Given the description of an element on the screen output the (x, y) to click on. 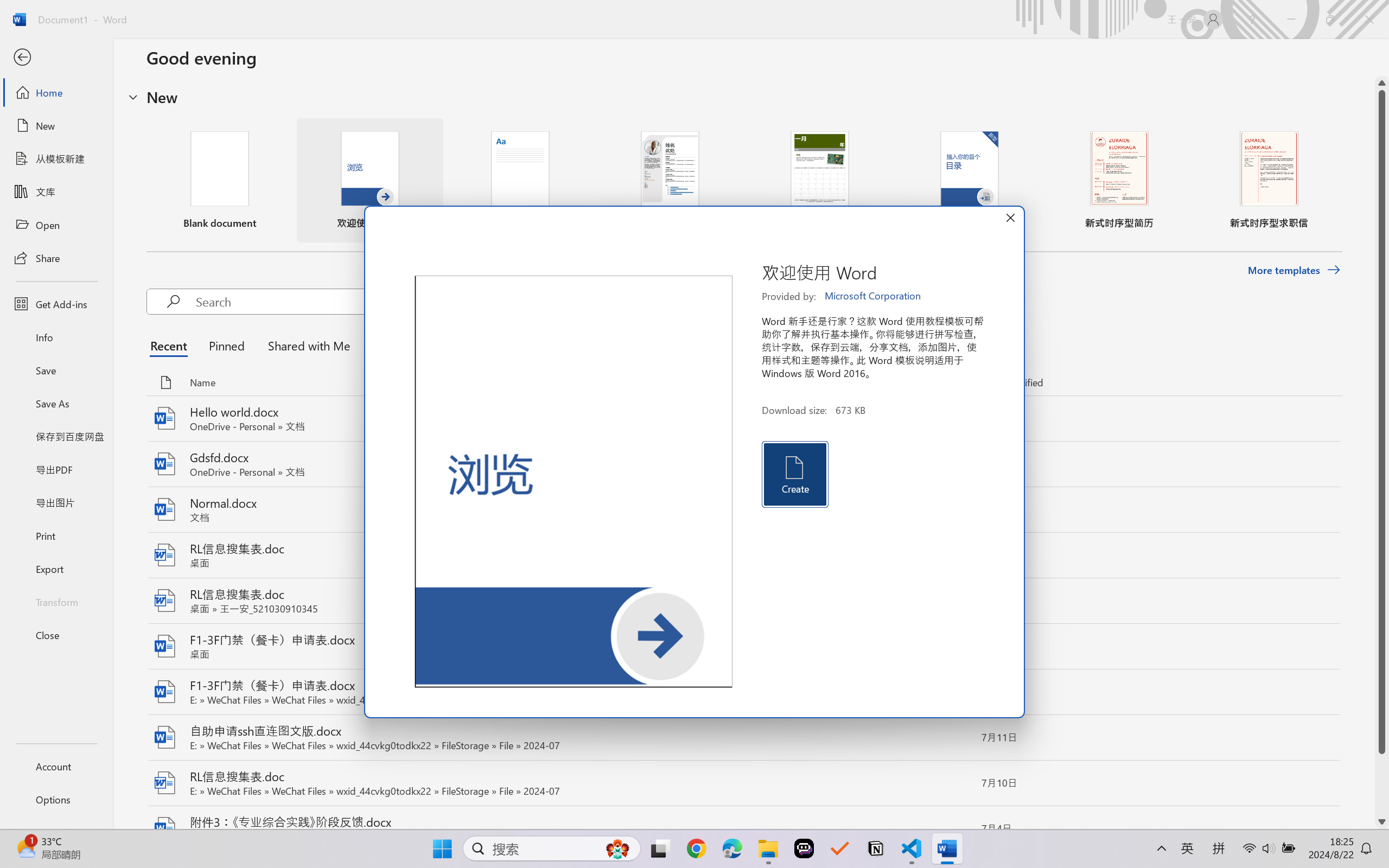
Blank document (219, 180)
Line up (1382, 83)
Page down (1382, 784)
